Given the description of an element on the screen output the (x, y) to click on. 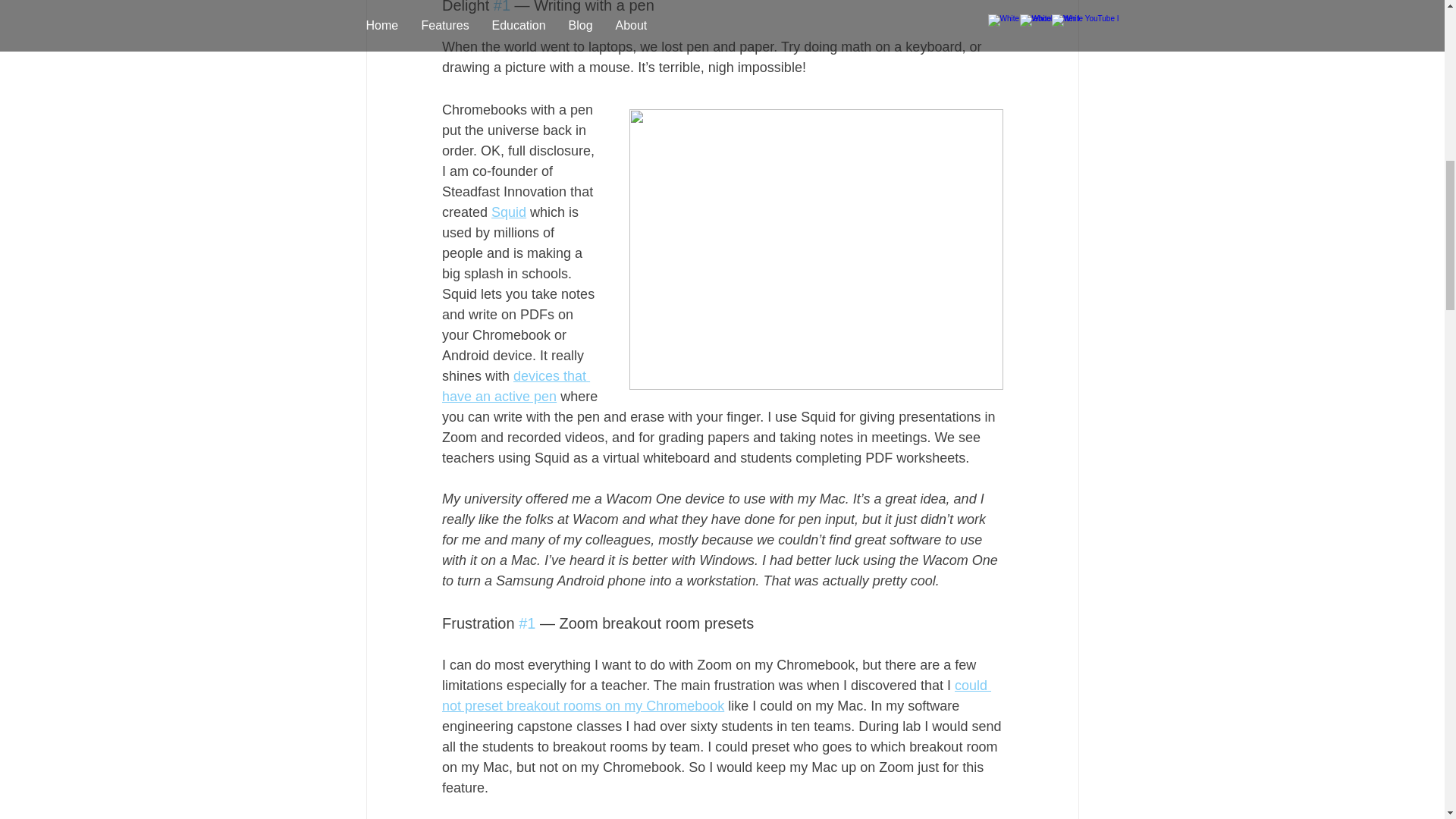
Squid (508, 212)
could not preset breakout rooms on my Chromebook (715, 695)
devices that have an active pen (515, 386)
